Given the description of an element on the screen output the (x, y) to click on. 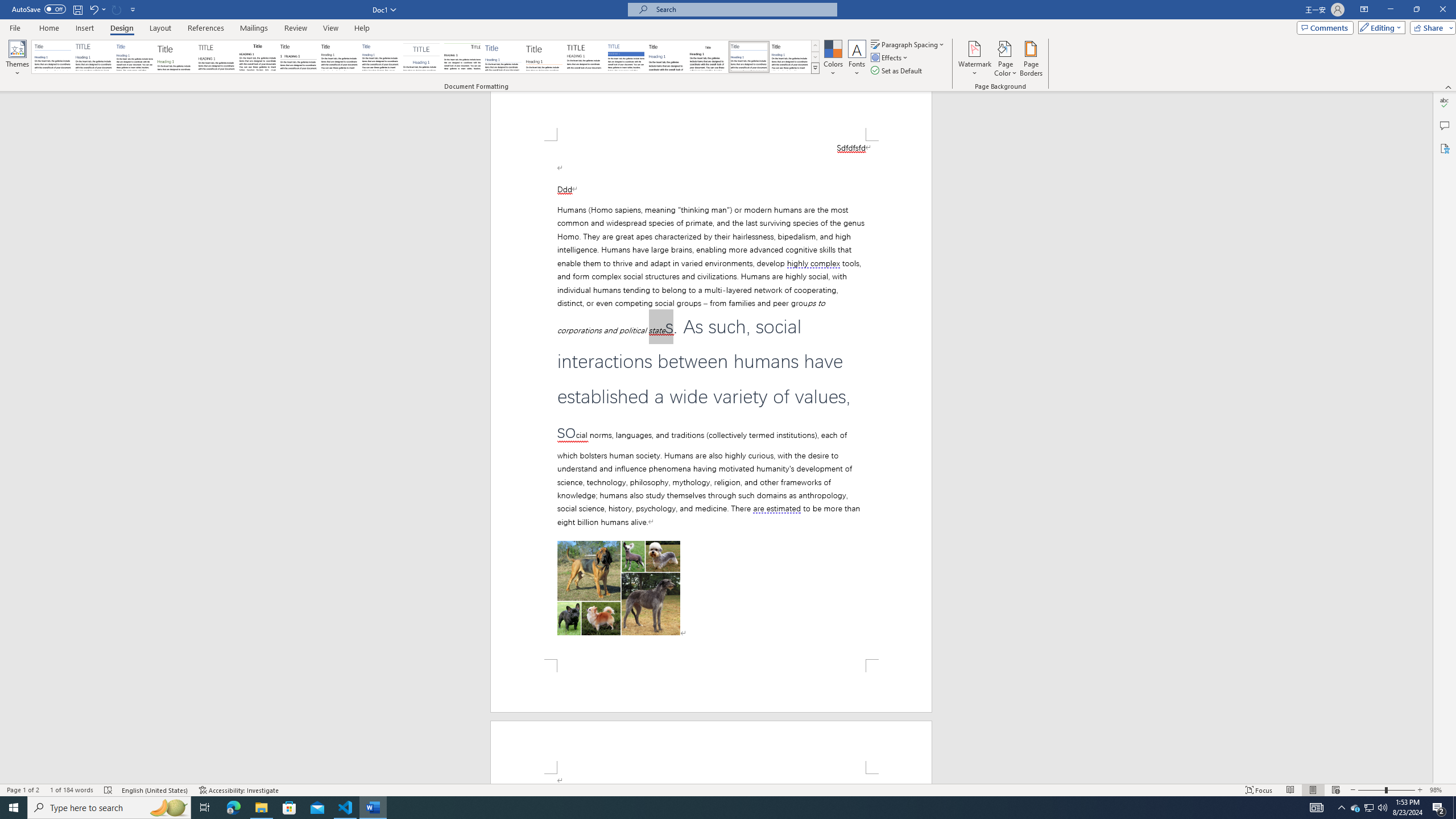
Black & White (Numbered) (298, 56)
Black & White (Word 2013) (338, 56)
Minimalist (584, 56)
Word 2003 (707, 56)
Black & White (Classic) (257, 56)
Undo Apply Quick Style Set (96, 9)
